Given the description of an element on the screen output the (x, y) to click on. 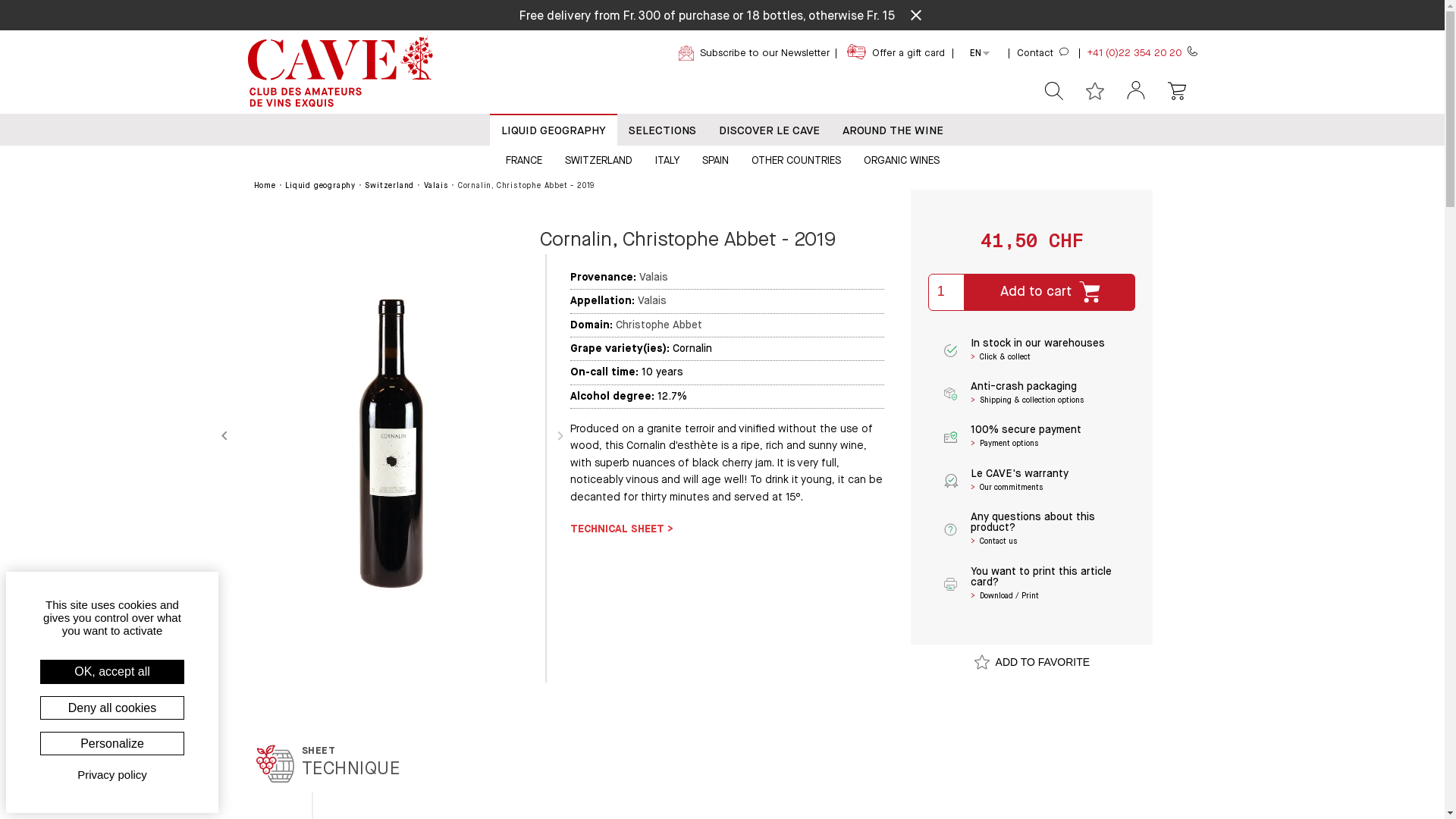
Privacy policy Element type: text (112, 774)
ITALY Element type: text (666, 159)
SELECTIONS Element type: text (662, 130)
AROUND THE WINE Element type: text (892, 130)
LIQUID GEOGRAPHY Element type: text (553, 130)
EN Element type: text (975, 53)
keyboard_arrow_left Element type: text (223, 435)
FRANCE Element type: text (523, 159)
Personalize Element type: text (112, 743)
ADD TO FAVORITE Element type: text (1031, 661)
Valais Element type: text (435, 185)
Deny all cookies Element type: text (112, 707)
Home Element type: text (264, 185)
OTHER COUNTRIES Element type: text (796, 159)
Add to cart Element type: text (1049, 291)
Valais Element type: text (651, 300)
keyboard_arrow_right Element type: text (559, 435)
Contact +41 (0)22 354 20 20 Element type: text (1091, 53)
DISCOVER LE CAVE Element type: text (768, 130)
Christophe Abbet Element type: text (658, 325)
Offer a gift card Element type: text (903, 52)
Liquid geography Element type: text (320, 185)
Switzerland Element type: text (389, 185)
ORGANIC WINES Element type: text (901, 159)
SWITZERLAND Element type: text (598, 159)
Subscribe to our Newsletter Element type: text (757, 52)
SPAIN Element type: text (714, 159)
OK, accept all Element type: text (112, 671)
